Given the description of an element on the screen output the (x, y) to click on. 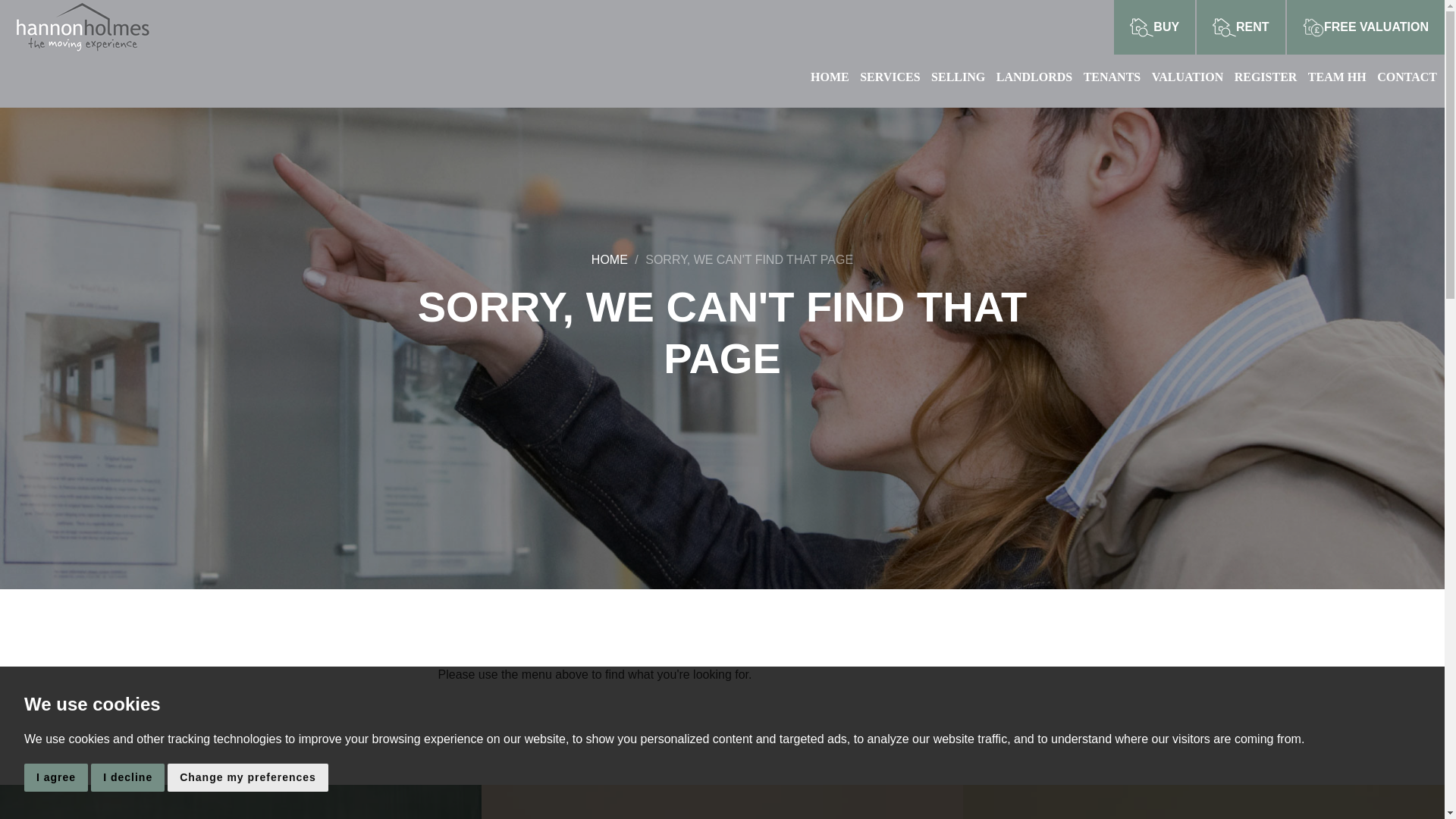
I agree (55, 777)
LANDLORDS (1037, 76)
SORRY, WE CAN'T FIND THAT PAGE (749, 259)
BUY (1154, 27)
SELLING (961, 76)
HOME (833, 76)
RENT (1240, 27)
TENANTS (721, 801)
SERVICES (240, 801)
HOME (1115, 76)
TEAM HH (893, 76)
VALUATION (609, 259)
REGISTER (1340, 76)
